Given the description of an element on the screen output the (x, y) to click on. 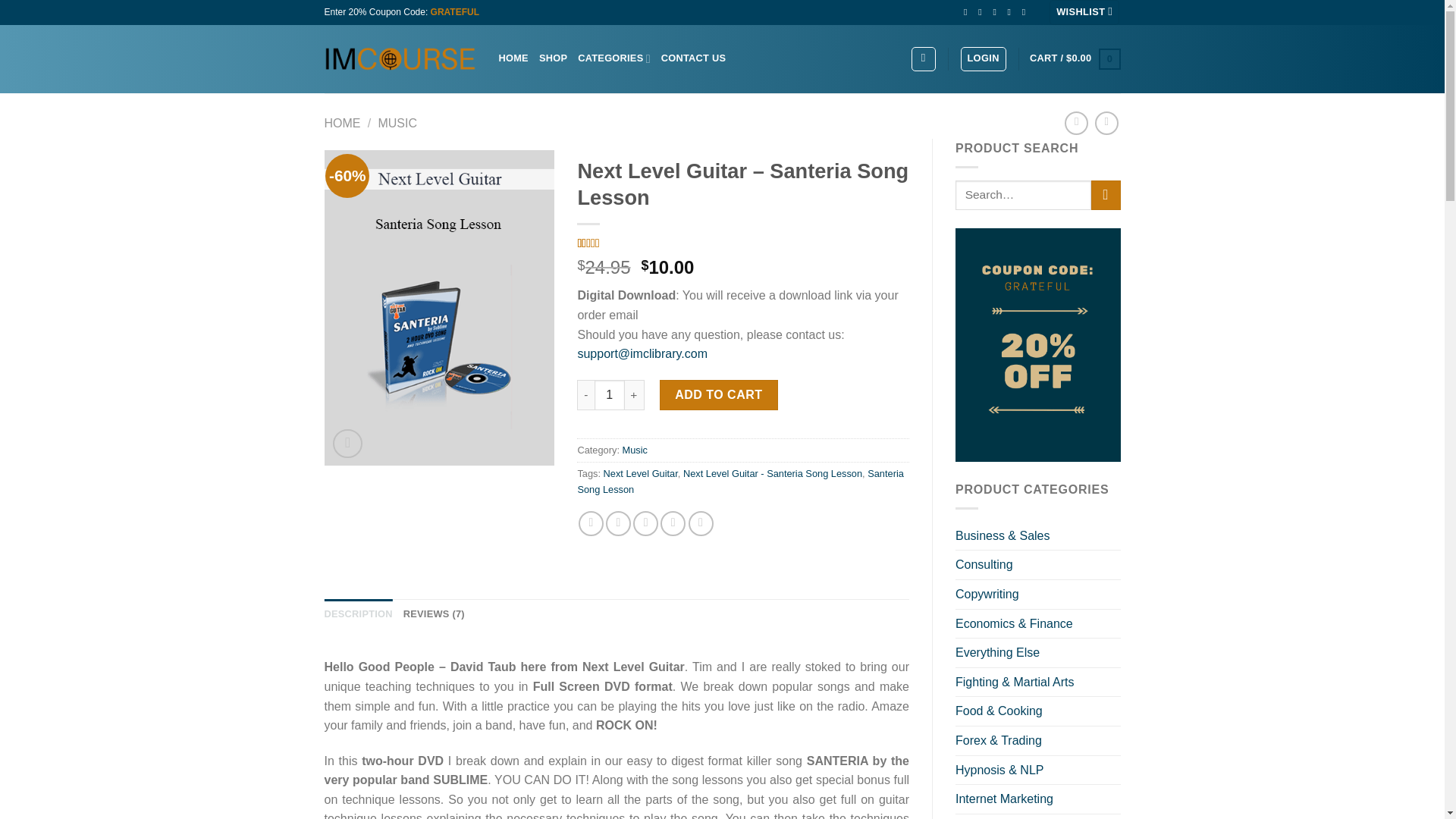
MUSIC (396, 123)
Email to a Friend (645, 523)
1 (609, 395)
Share on Twitter (617, 523)
Search (1105, 194)
Share on LinkedIn (700, 523)
WISHLIST (1084, 12)
- (585, 395)
Follow on Instagram (982, 11)
HOME (513, 58)
Send us an email (1011, 11)
HOME (342, 123)
Cart (1074, 58)
LOGIN (983, 58)
